Given the description of an element on the screen output the (x, y) to click on. 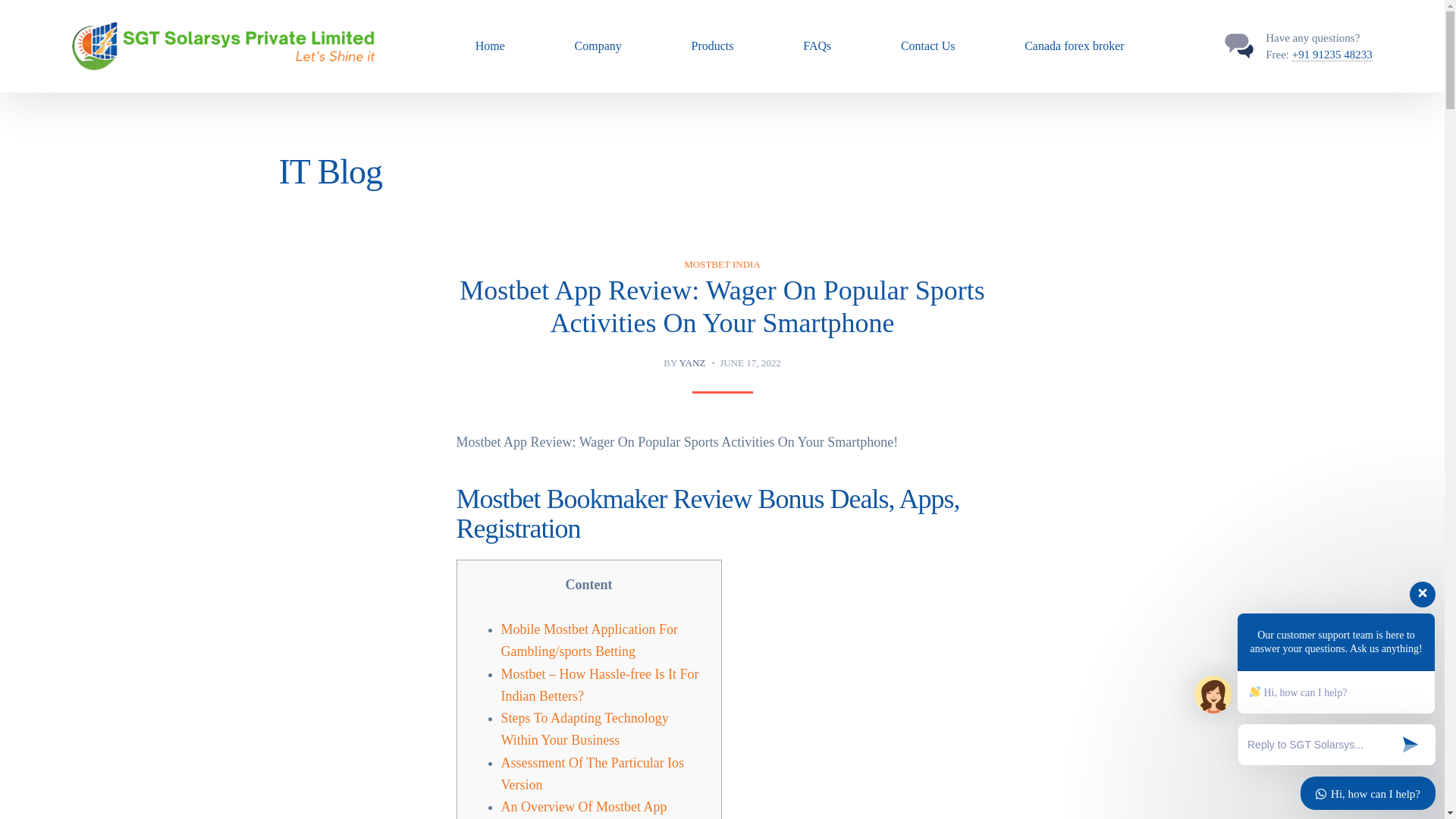
Products (712, 46)
Contact Us (928, 46)
Company (598, 46)
FAQs (817, 46)
Home (490, 46)
Canada forex broker (1074, 46)
Posts by yanz (692, 362)
